Given the description of an element on the screen output the (x, y) to click on. 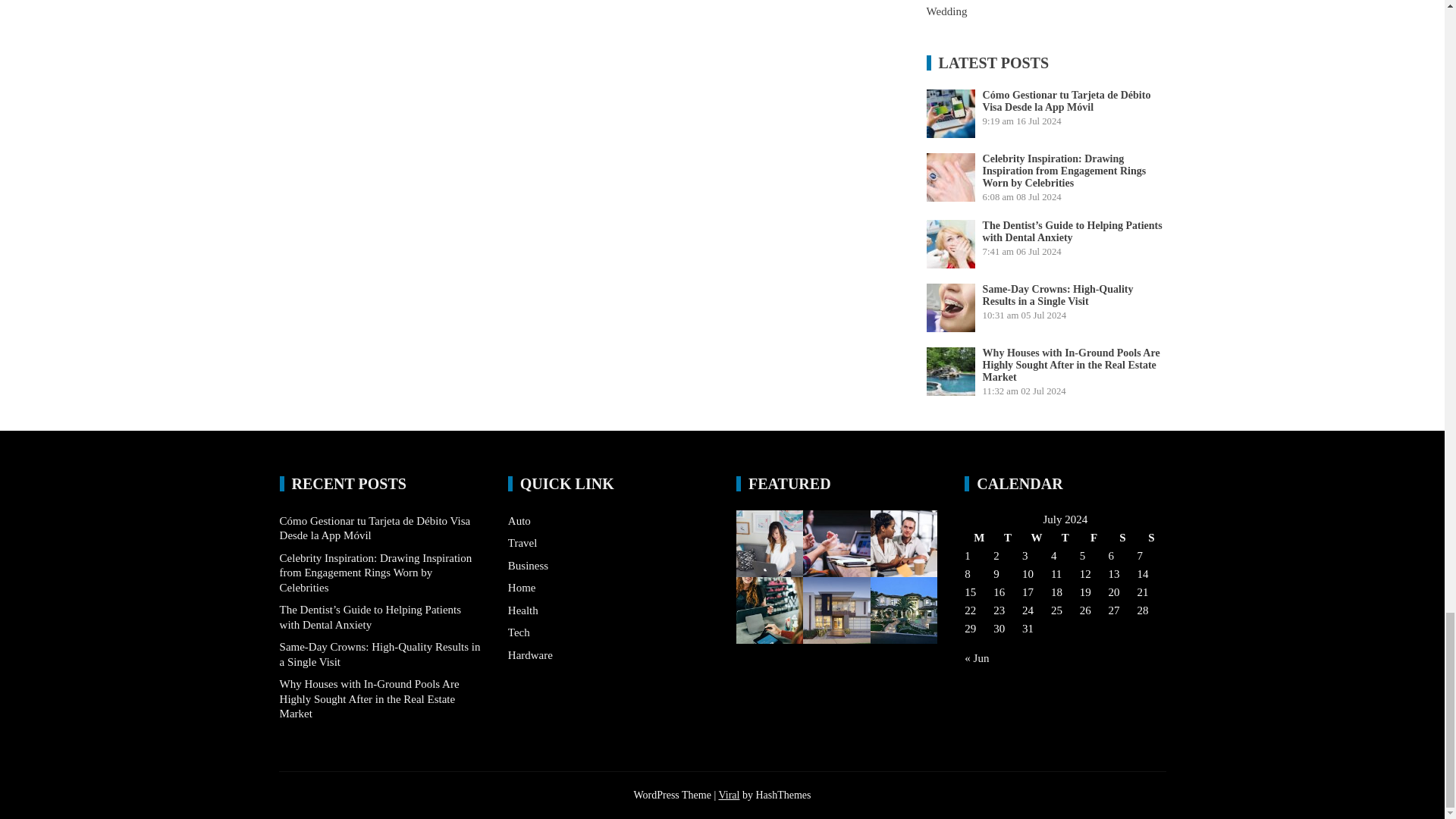
Tuesday (1007, 537)
Friday (1094, 537)
Wednesday (1036, 537)
Saturday (1122, 537)
Sunday (1151, 537)
Thursday (1065, 537)
Download Viral (728, 794)
Monday (977, 537)
